Given the description of an element on the screen output the (x, y) to click on. 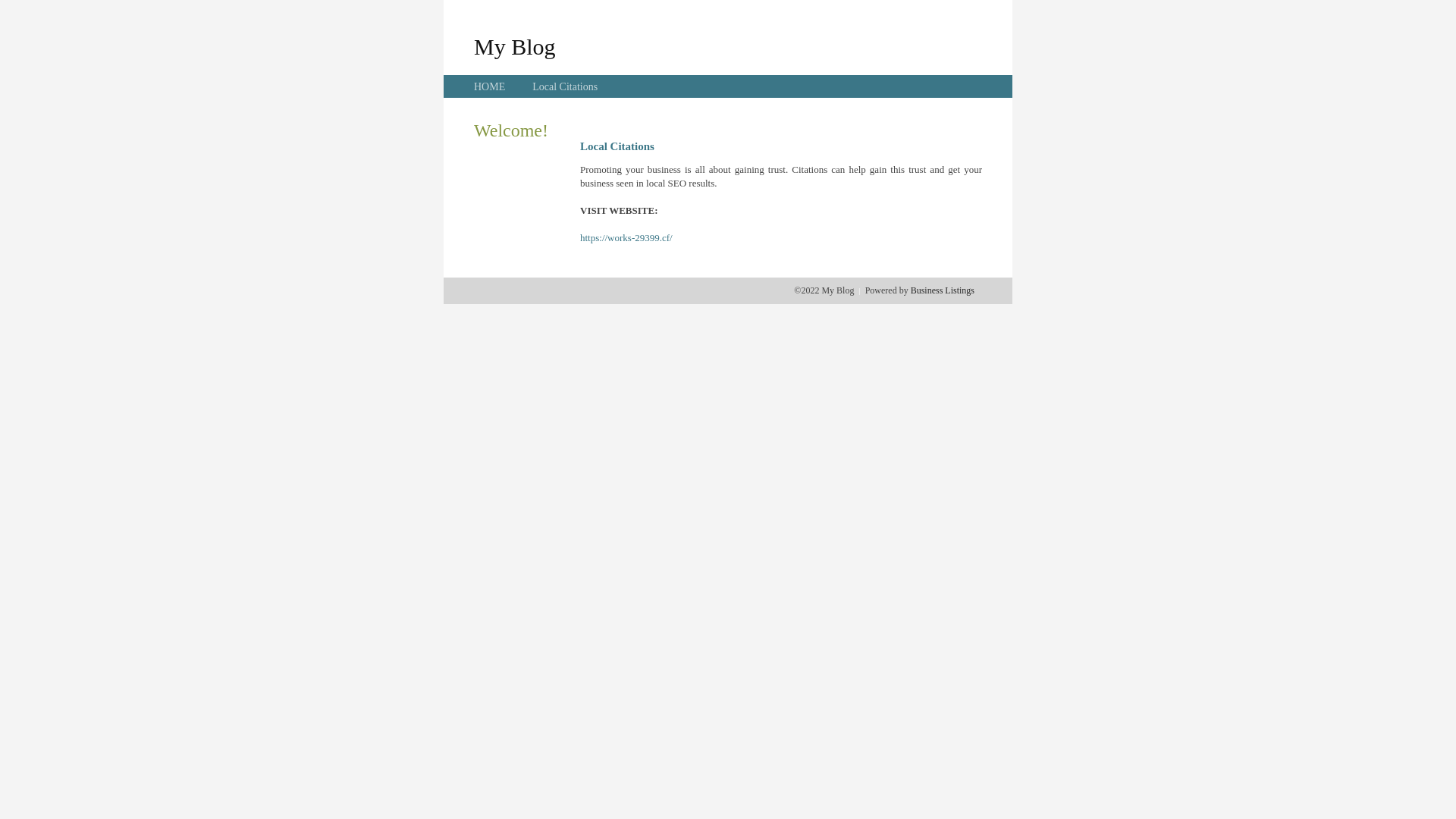
My Blog Element type: text (514, 46)
HOME Element type: text (489, 86)
Local Citations Element type: text (564, 86)
https://works-29399.cf/ Element type: text (626, 237)
Business Listings Element type: text (942, 290)
